Given the description of an element on the screen output the (x, y) to click on. 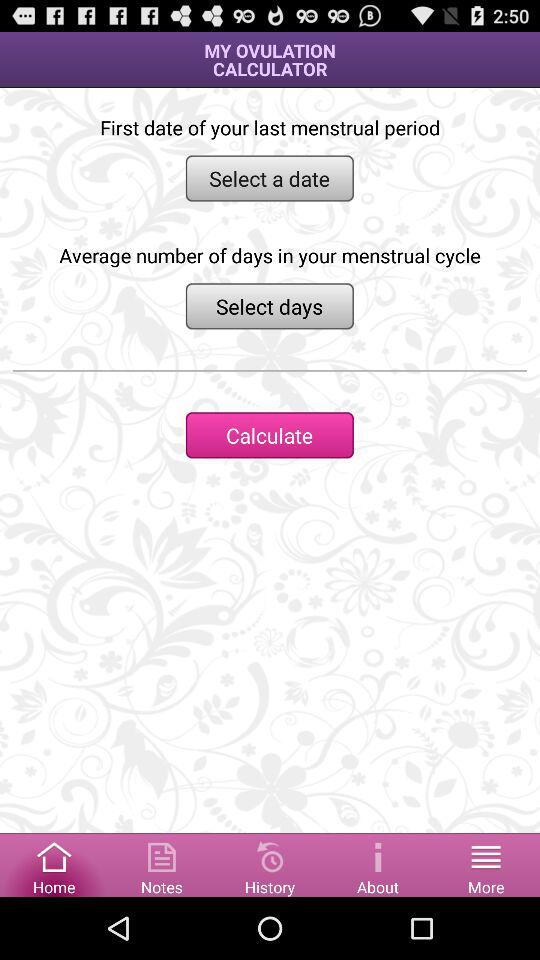
go to history (270, 864)
